Given the description of an element on the screen output the (x, y) to click on. 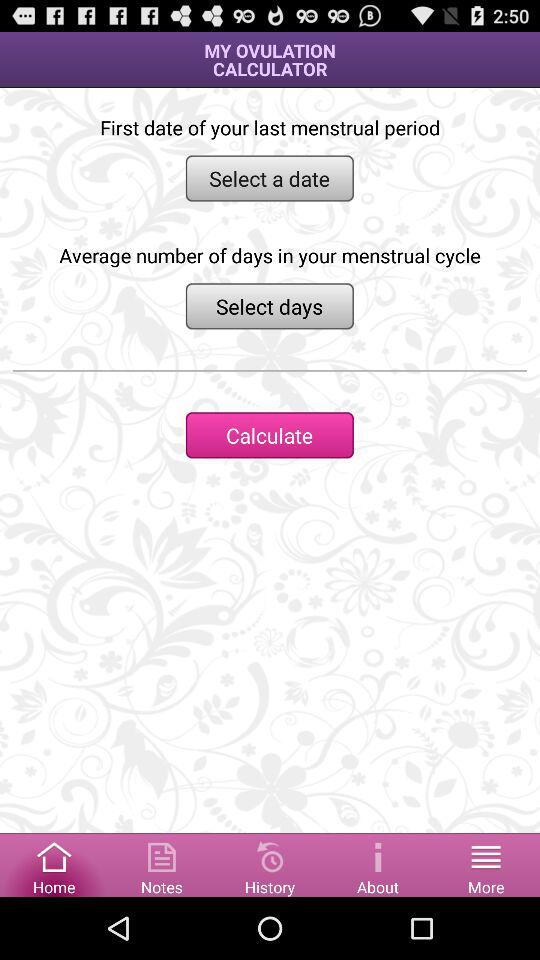
go to history (270, 864)
